Given the description of an element on the screen output the (x, y) to click on. 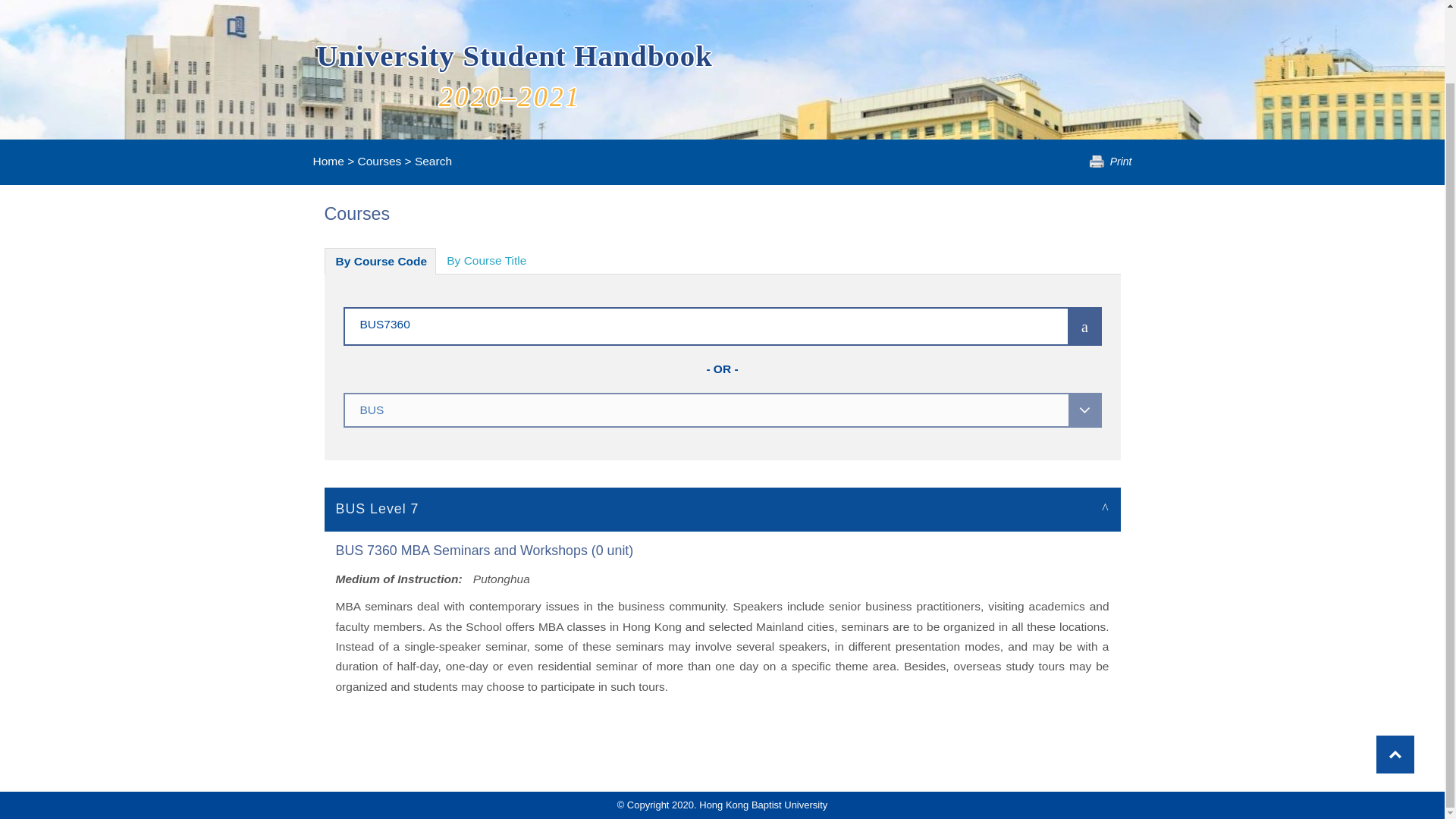
BUS7360 (683, 322)
Print (1110, 161)
Scroll To Top (1394, 672)
Scroll To Top (1394, 672)
By Course Title (486, 260)
Home (328, 160)
By Course Code (381, 261)
BUS7360 (683, 322)
BUS Level 7 (722, 508)
Courses (379, 160)
